Given the description of an element on the screen output the (x, y) to click on. 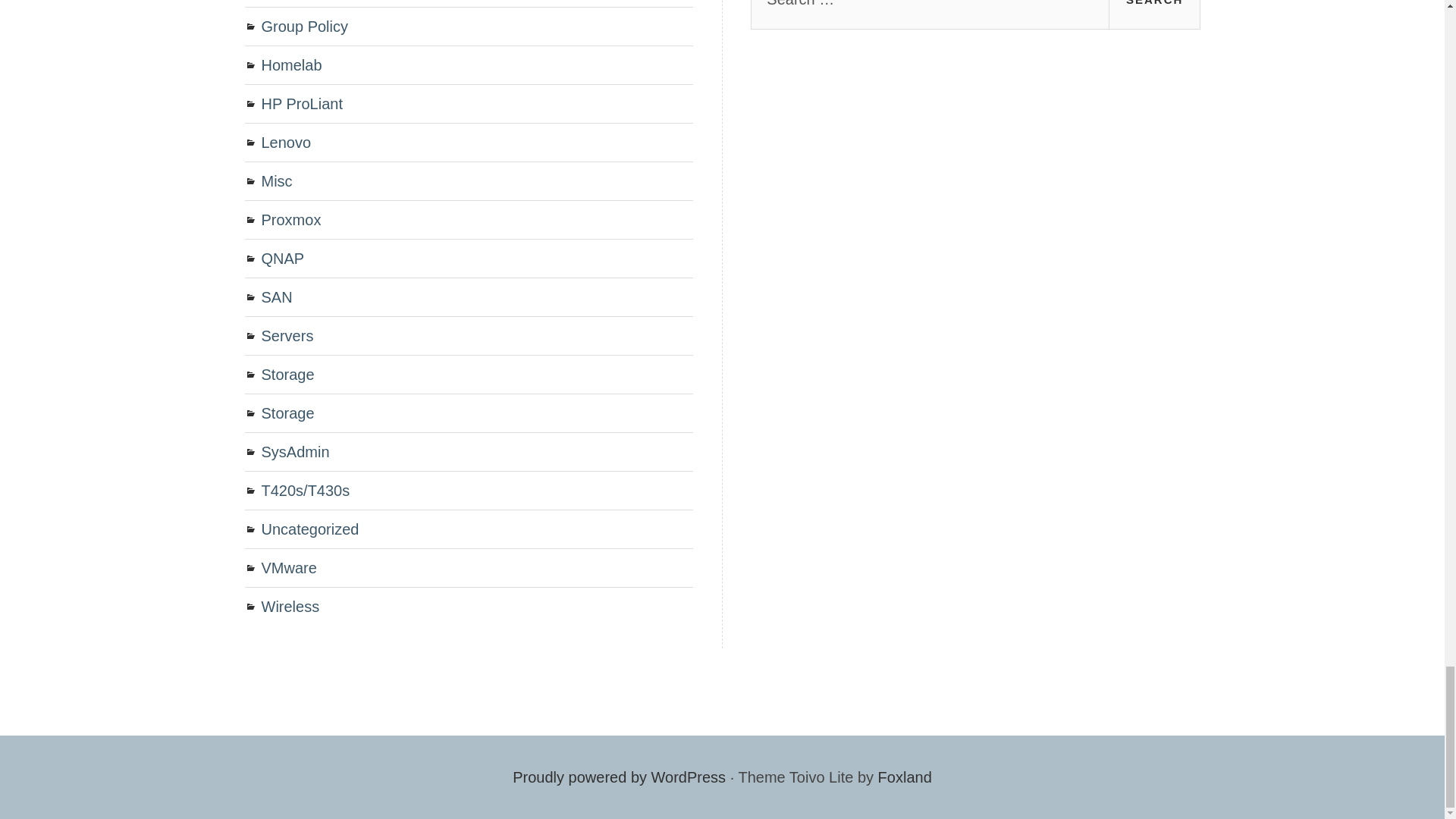
Group Policy (303, 26)
Search (1153, 14)
Lenovo (285, 142)
Homelab (290, 64)
Proxmox (290, 219)
Misc (276, 180)
HP ProLiant (301, 103)
QNAP (282, 258)
Search (1153, 14)
